Given the description of an element on the screen output the (x, y) to click on. 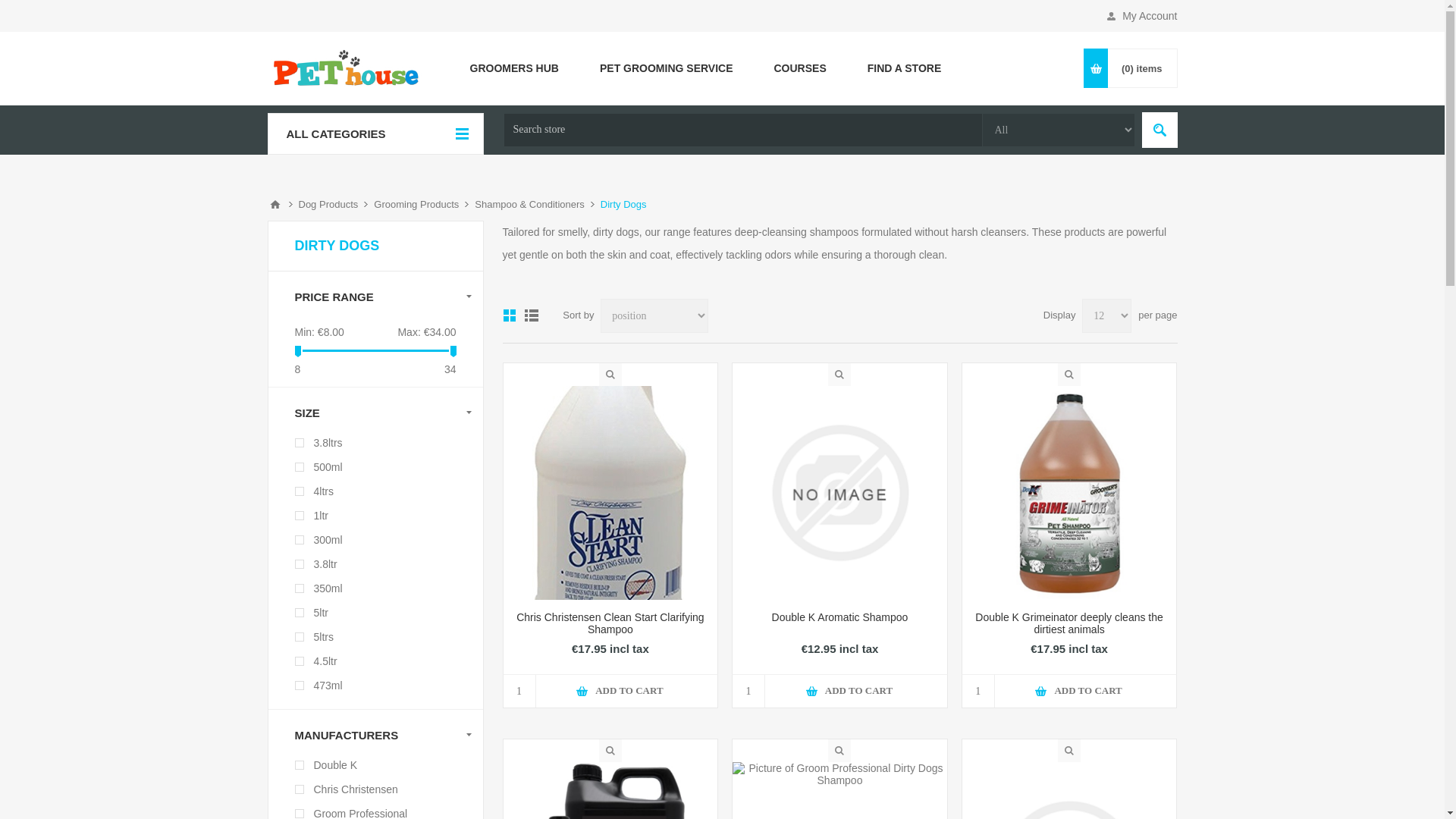
Add to wishlist (1086, 685)
Quick View (609, 374)
Grooming Products (416, 204)
Courses (800, 67)
1 (519, 690)
List (531, 315)
Pet Grooming Service (666, 67)
Find a Store (904, 67)
1 (748, 690)
Add to compare list (1051, 685)
1 (978, 690)
Search (1159, 130)
Add to compare list (592, 685)
FIND A STORE (904, 67)
